Given the description of an element on the screen output the (x, y) to click on. 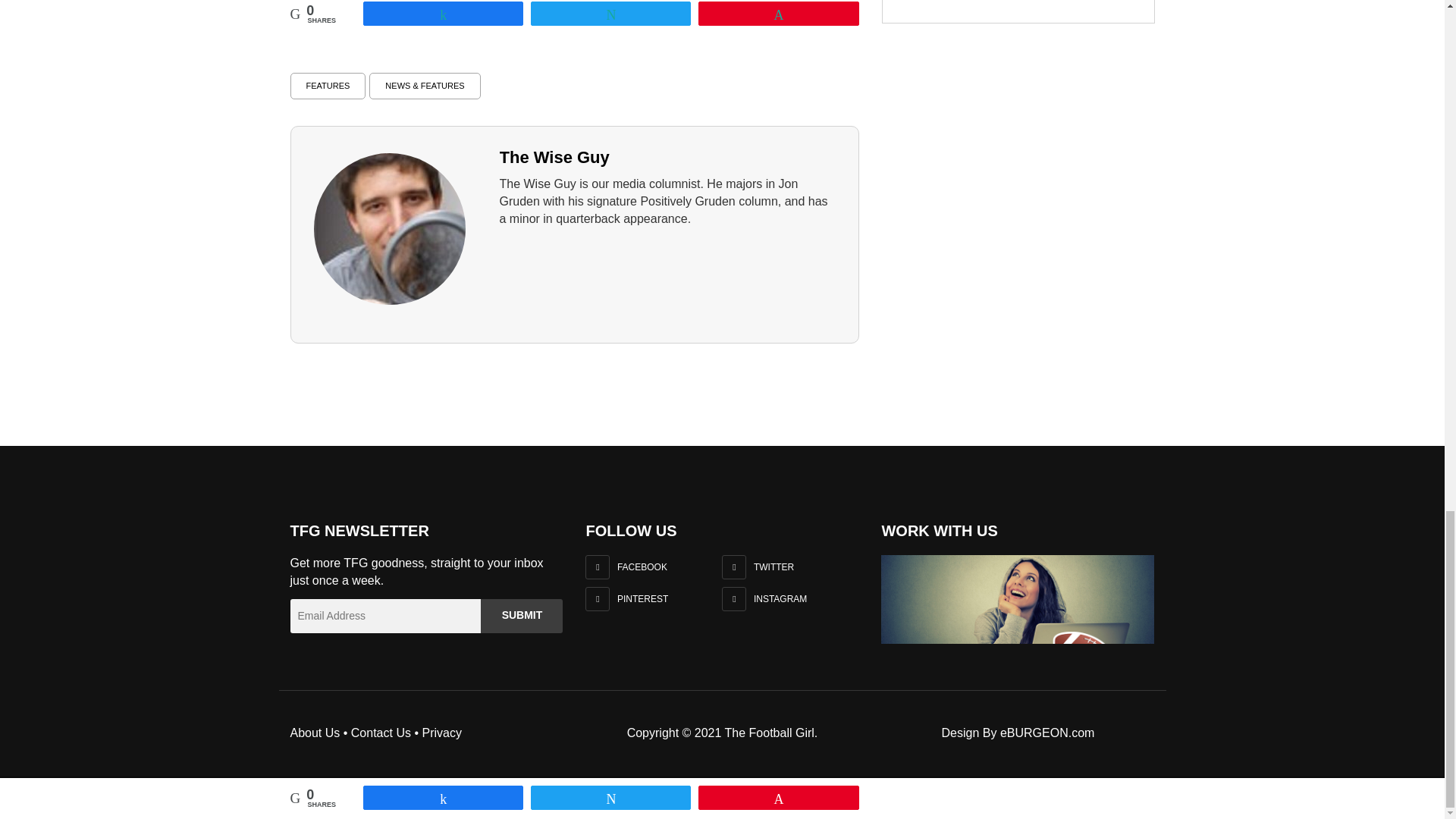
Work With The Football Girl (1017, 599)
